Given the description of an element on the screen output the (x, y) to click on. 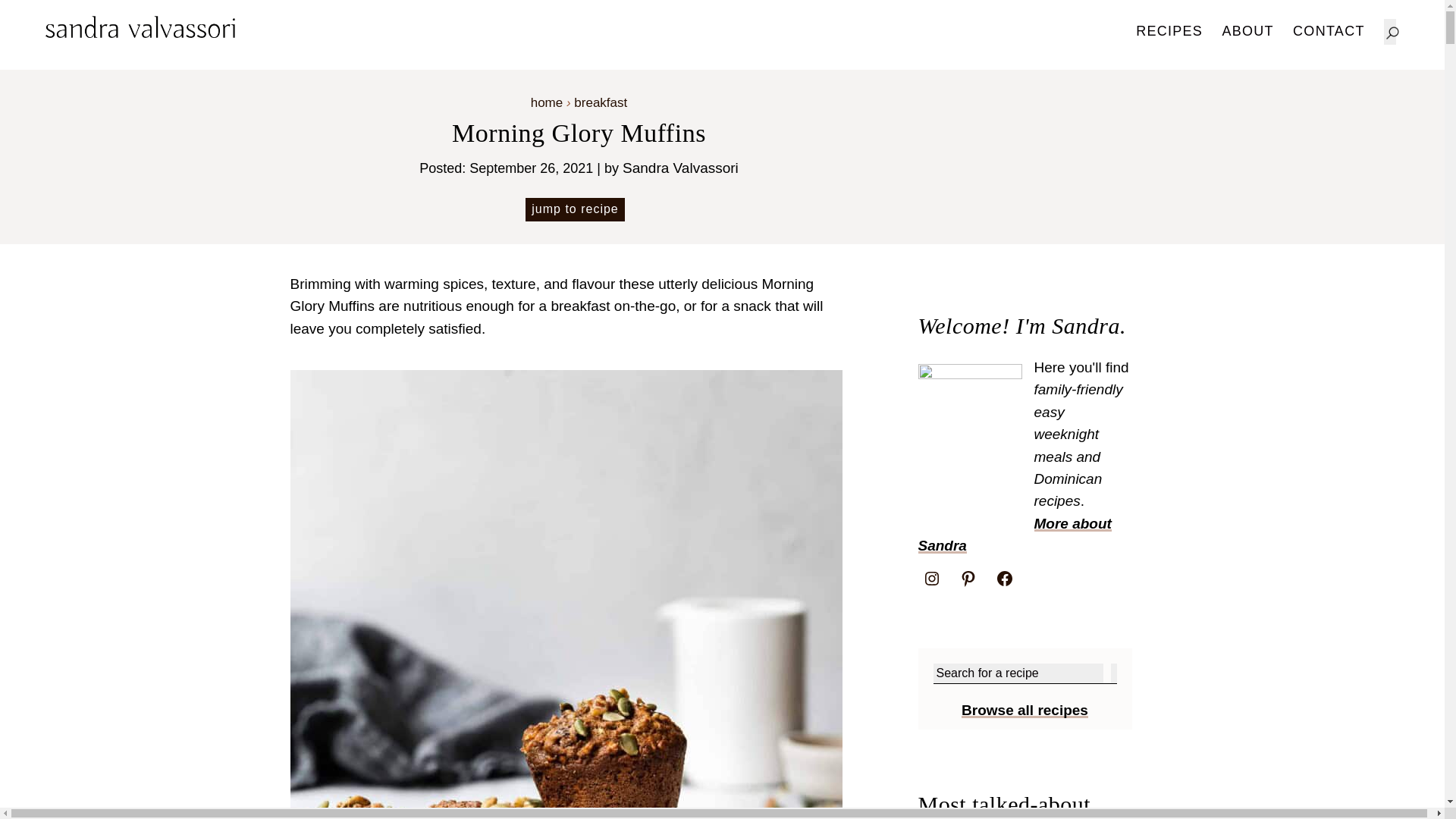
RECIPES (1168, 30)
ABOUT (1246, 30)
CONTACT (1328, 30)
home (547, 102)
jump to recipe (574, 209)
breakfast (600, 102)
